Given the description of an element on the screen output the (x, y) to click on. 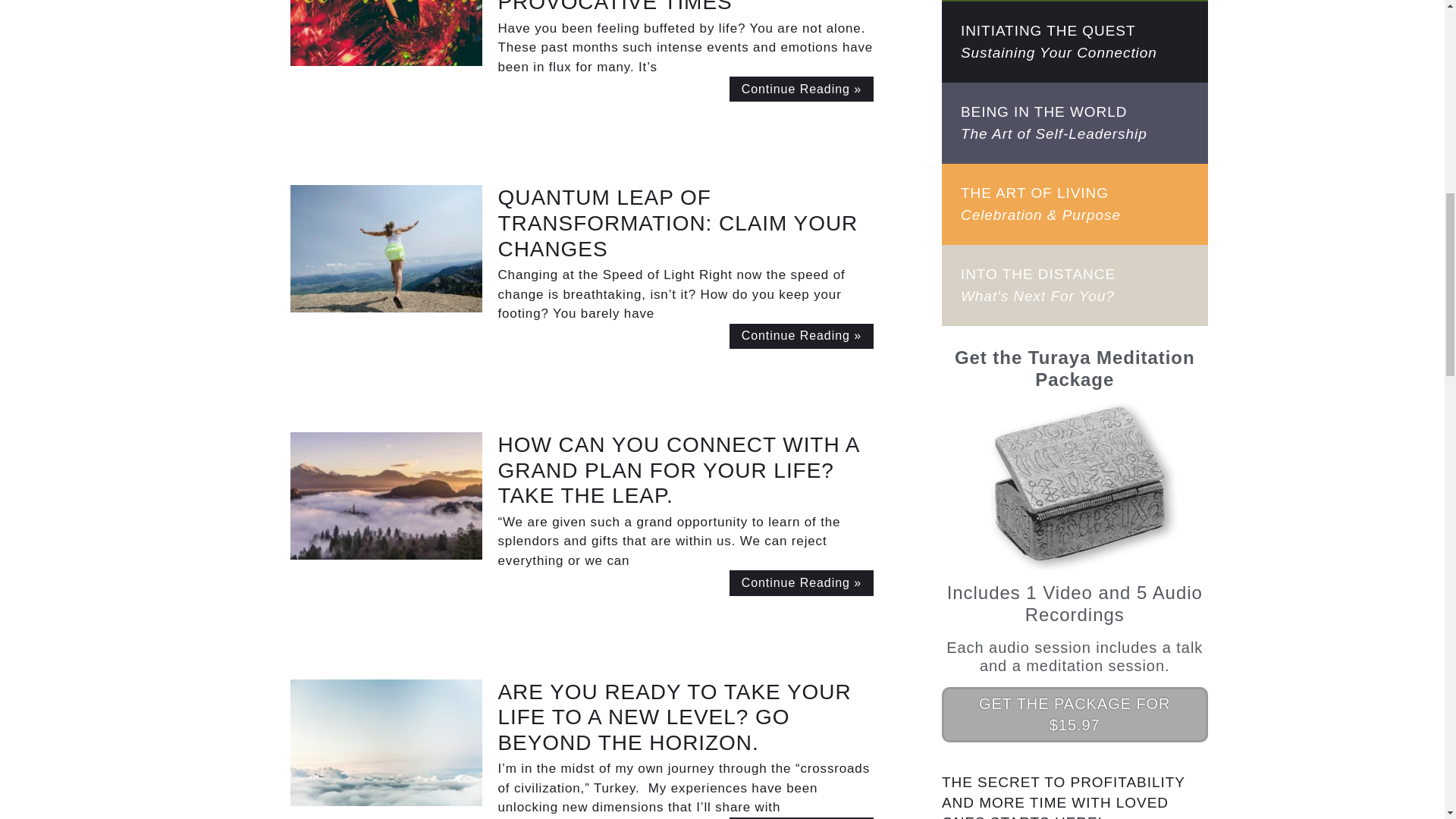
QUANTUM LEAP OF TRANSFORMATION: CLAIM YOUR CHANGES (677, 222)
